Given the description of an element on the screen output the (x, y) to click on. 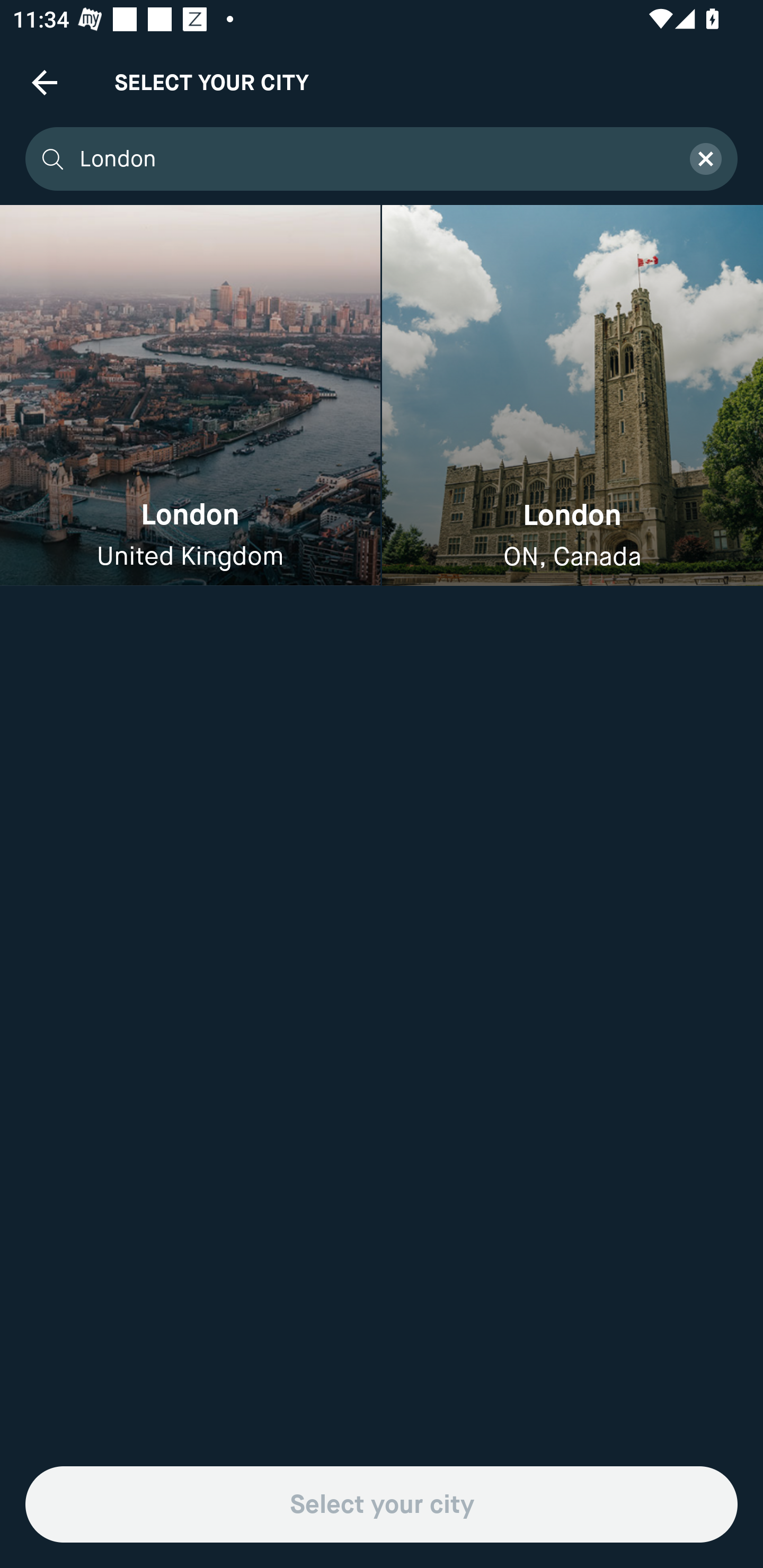
Navigate up (44, 82)
London (373, 159)
London United Kingdom (190, 395)
London ON, Canada (572, 395)
Select your city (381, 1504)
